Given the description of an element on the screen output the (x, y) to click on. 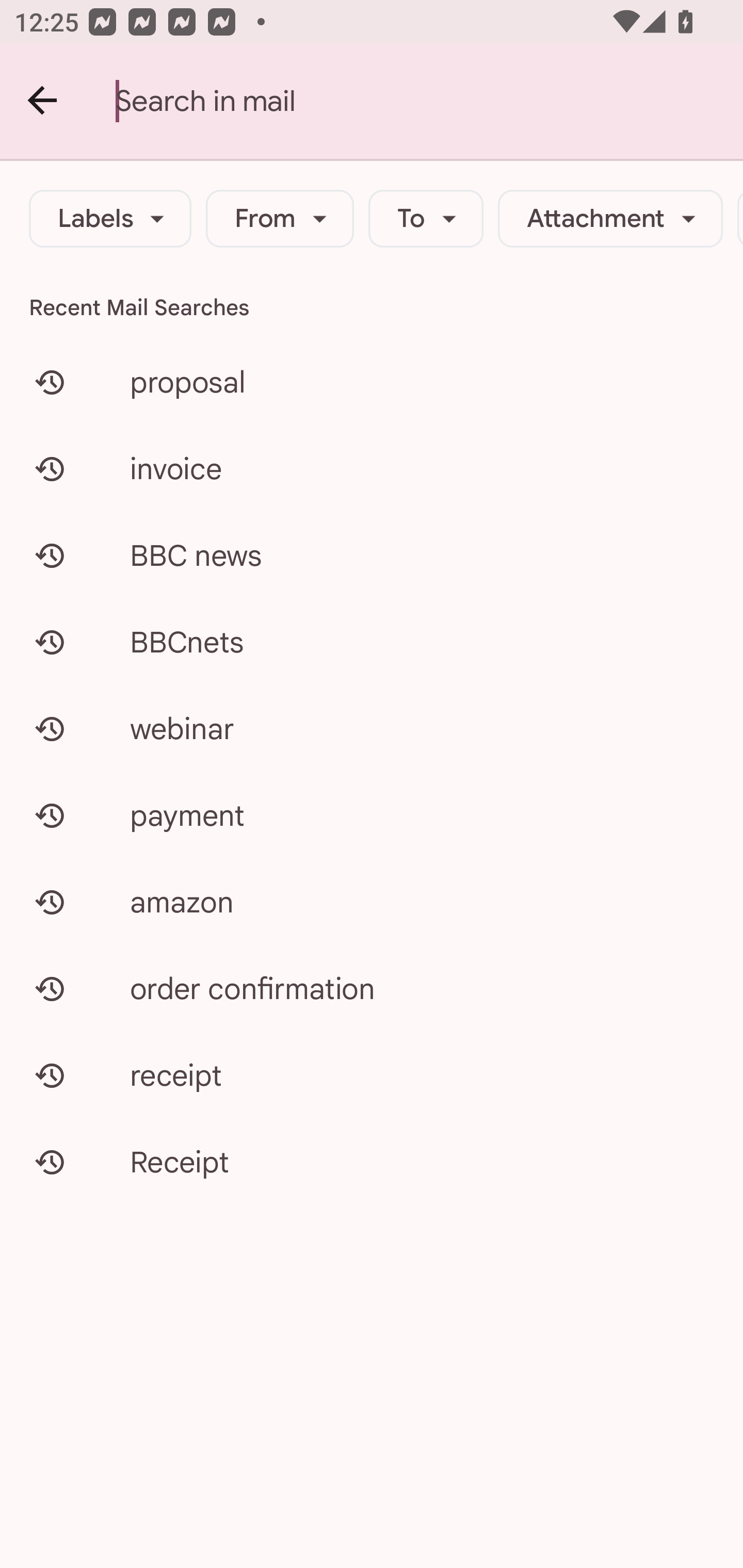
Back (43, 101)
Search in mail (429, 101)
Labels (109, 218)
From (279, 218)
To (425, 218)
Attachment (609, 218)
Recent Mail Searches (371, 306)
proposal Suggestion: proposal (371, 381)
invoice Suggestion: invoice (371, 468)
BBC news Suggestion: BBC news (371, 555)
BBCnets Suggestion: BBCnets (371, 641)
webinar Suggestion: webinar (371, 728)
payment Suggestion: payment (371, 815)
amazon Suggestion: amazon (371, 902)
order confirmation Suggestion: order confirmation (371, 988)
receipt Suggestion: receipt (371, 1074)
Receipt Suggestion: Receipt (371, 1161)
